Given the description of an element on the screen output the (x, y) to click on. 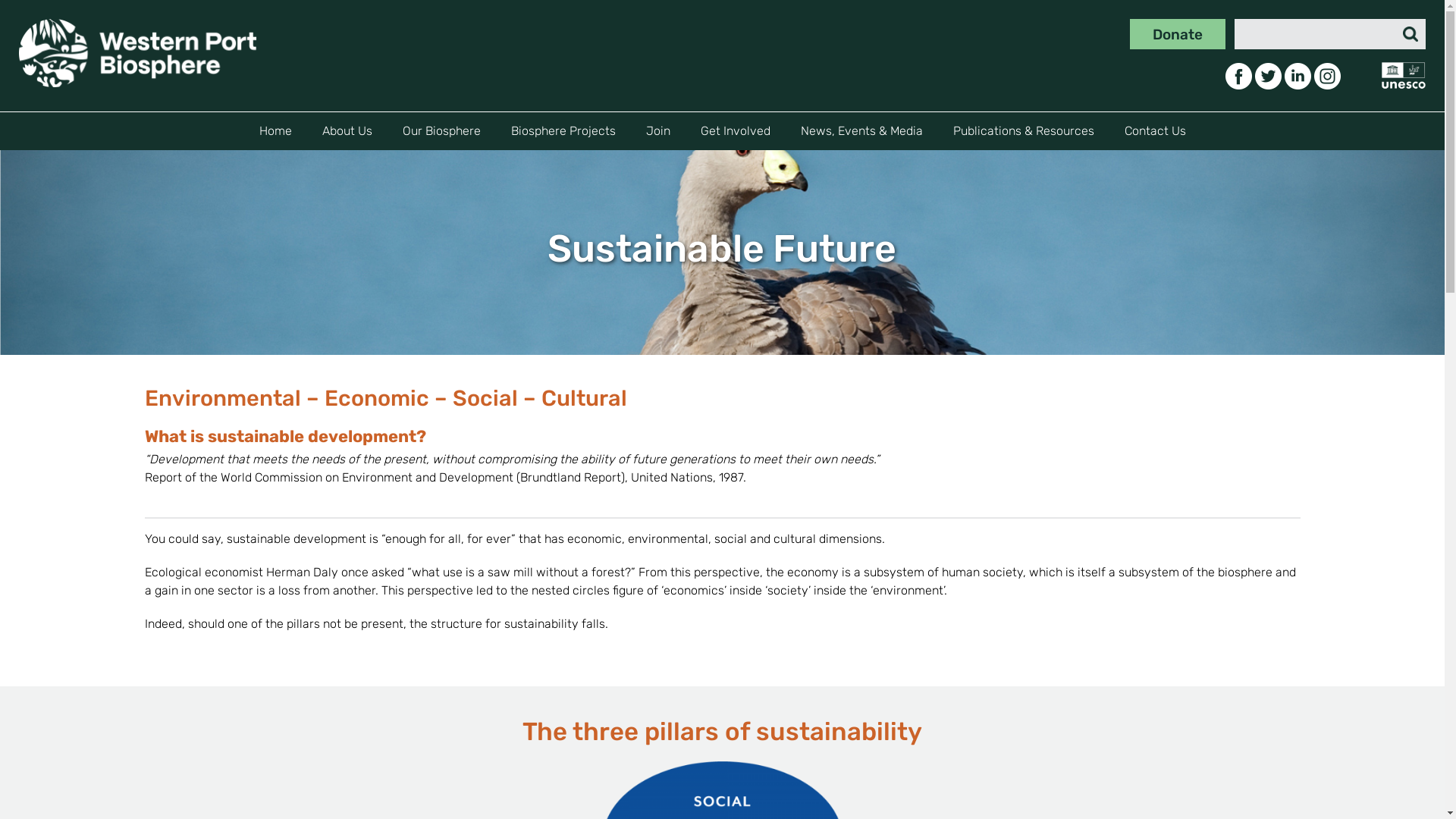
Publications & Resources Element type: text (1022, 131)
Join Element type: text (657, 131)
Biosphere Projects Element type: text (562, 131)
Contact Us Element type: text (1154, 131)
Our Biosphere Element type: text (440, 131)
Get Involved Element type: text (735, 131)
News, Events & Media Element type: text (861, 131)
Donate Element type: text (1177, 33)
About Us Element type: text (346, 131)
Home Element type: text (275, 131)
